Given the description of an element on the screen output the (x, y) to click on. 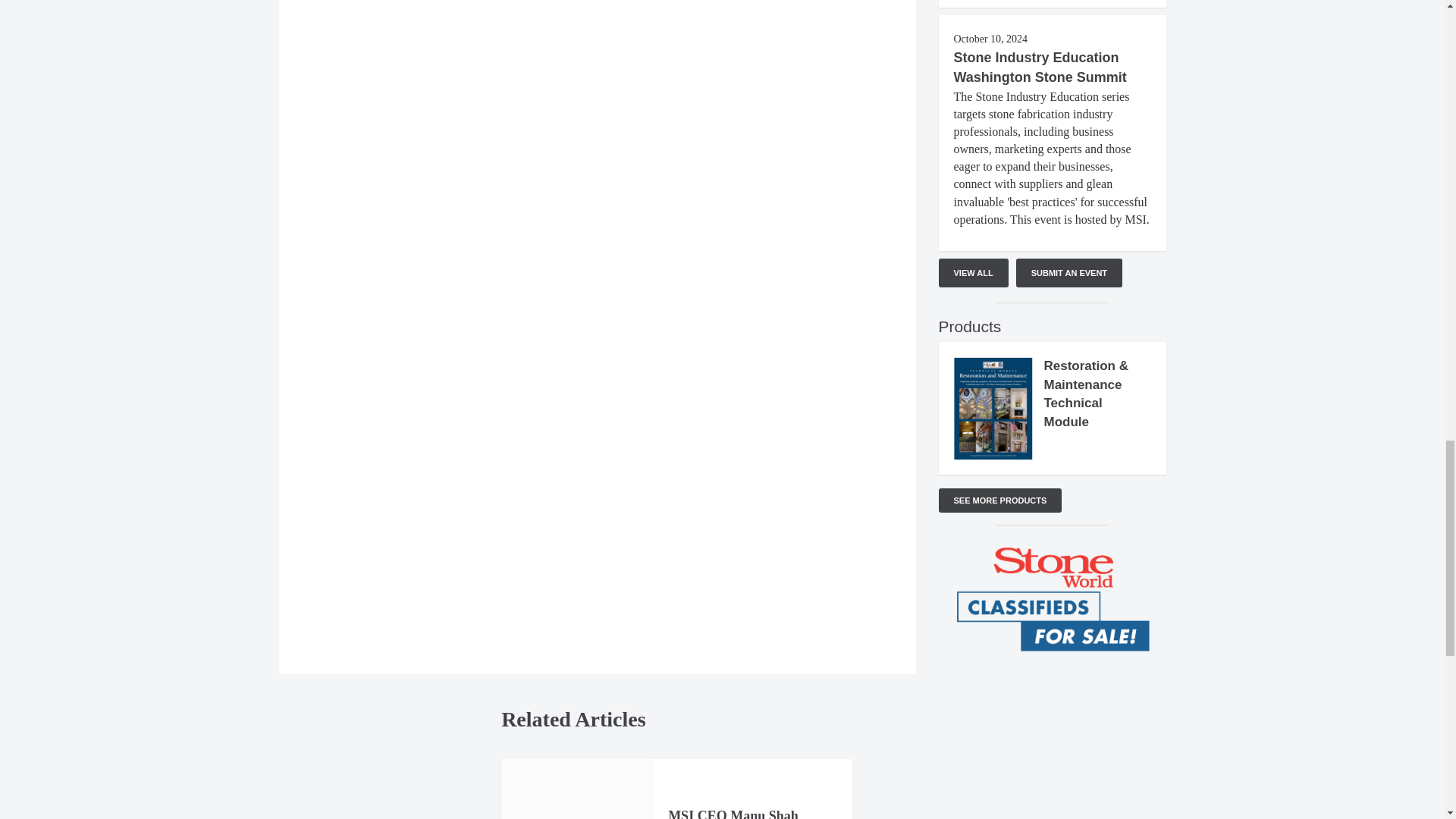
Stone Industry Education Washington Stone Summit (1039, 67)
